Given the description of an element on the screen output the (x, y) to click on. 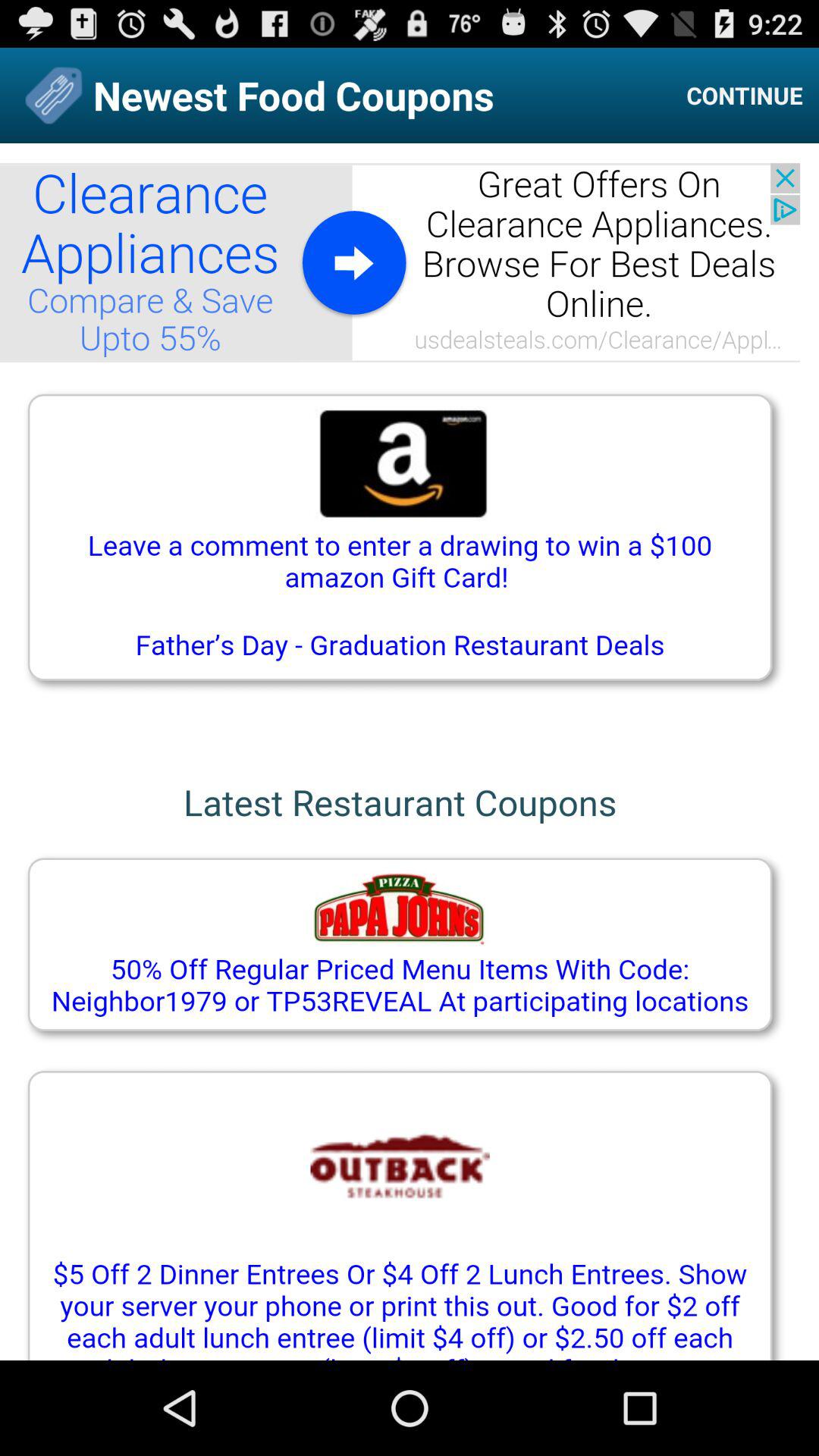
seeing the paragraph (409, 751)
